Given the description of an element on the screen output the (x, y) to click on. 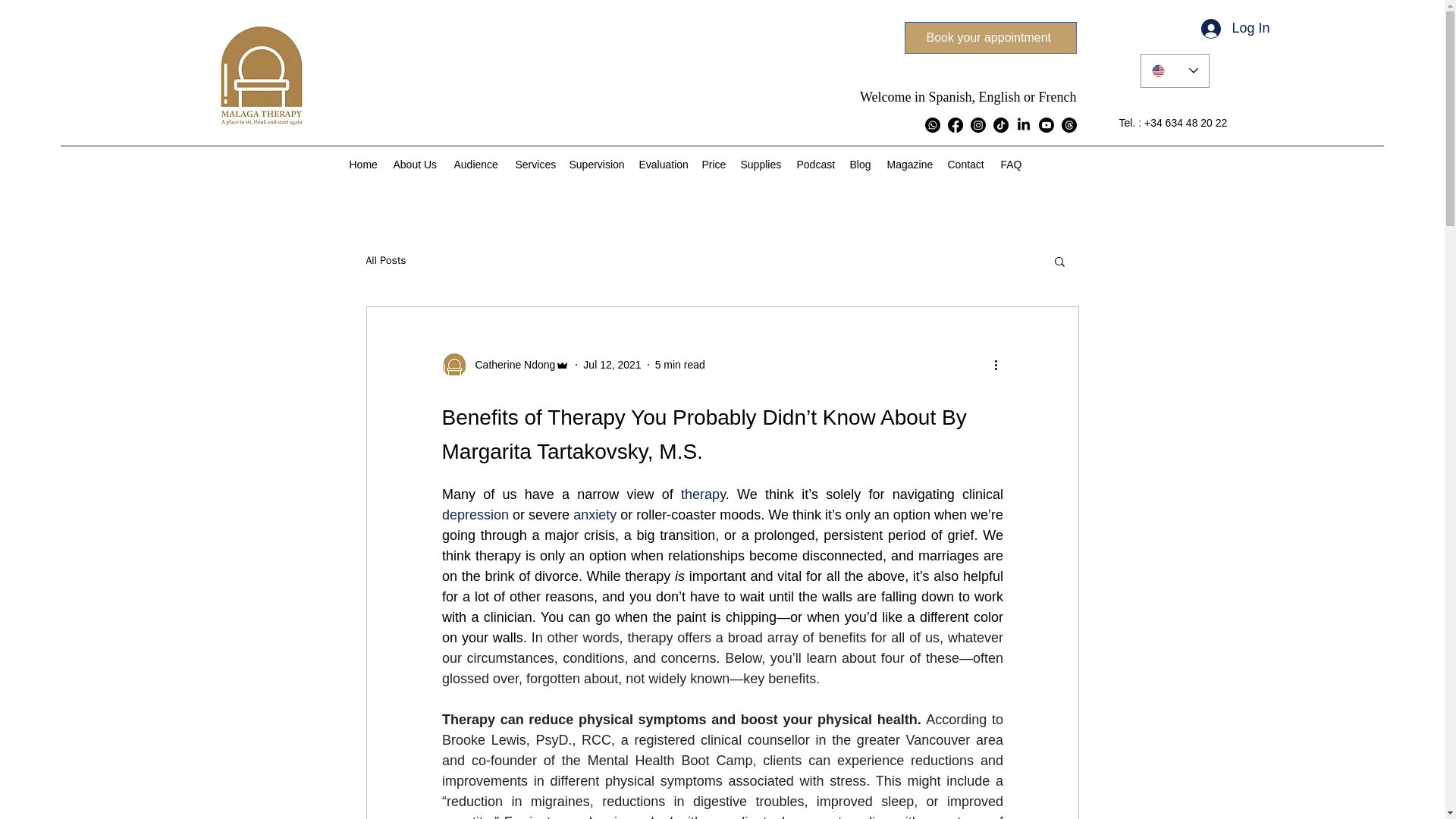
Contact (966, 164)
Jul 12, 2021 (611, 364)
Book your appointment (989, 38)
All Posts (385, 260)
Supplies (760, 164)
Home (362, 164)
sleep (897, 801)
Catherine Ndong (505, 364)
Blog (860, 164)
Log In (1235, 28)
